Given the description of an element on the screen output the (x, y) to click on. 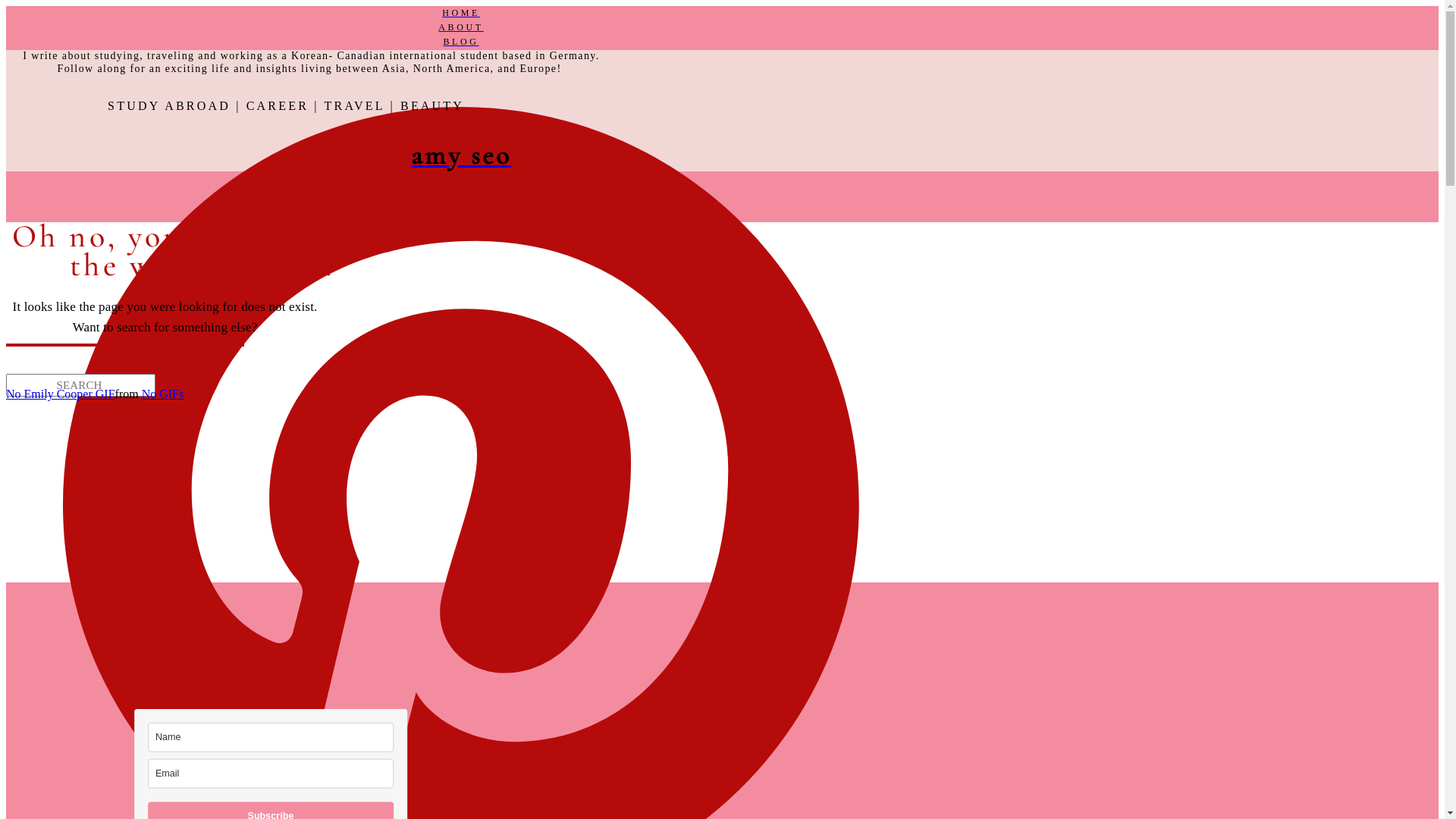
No Emily Cooper GIF Element type: text (60, 393)
BLOG Element type: text (461, 41)
No GIFs Element type: text (162, 393)
ABOUT Element type: text (461, 27)
amy seo Element type: text (461, 155)
HOME Element type: text (461, 13)
